Given the description of an element on the screen output the (x, y) to click on. 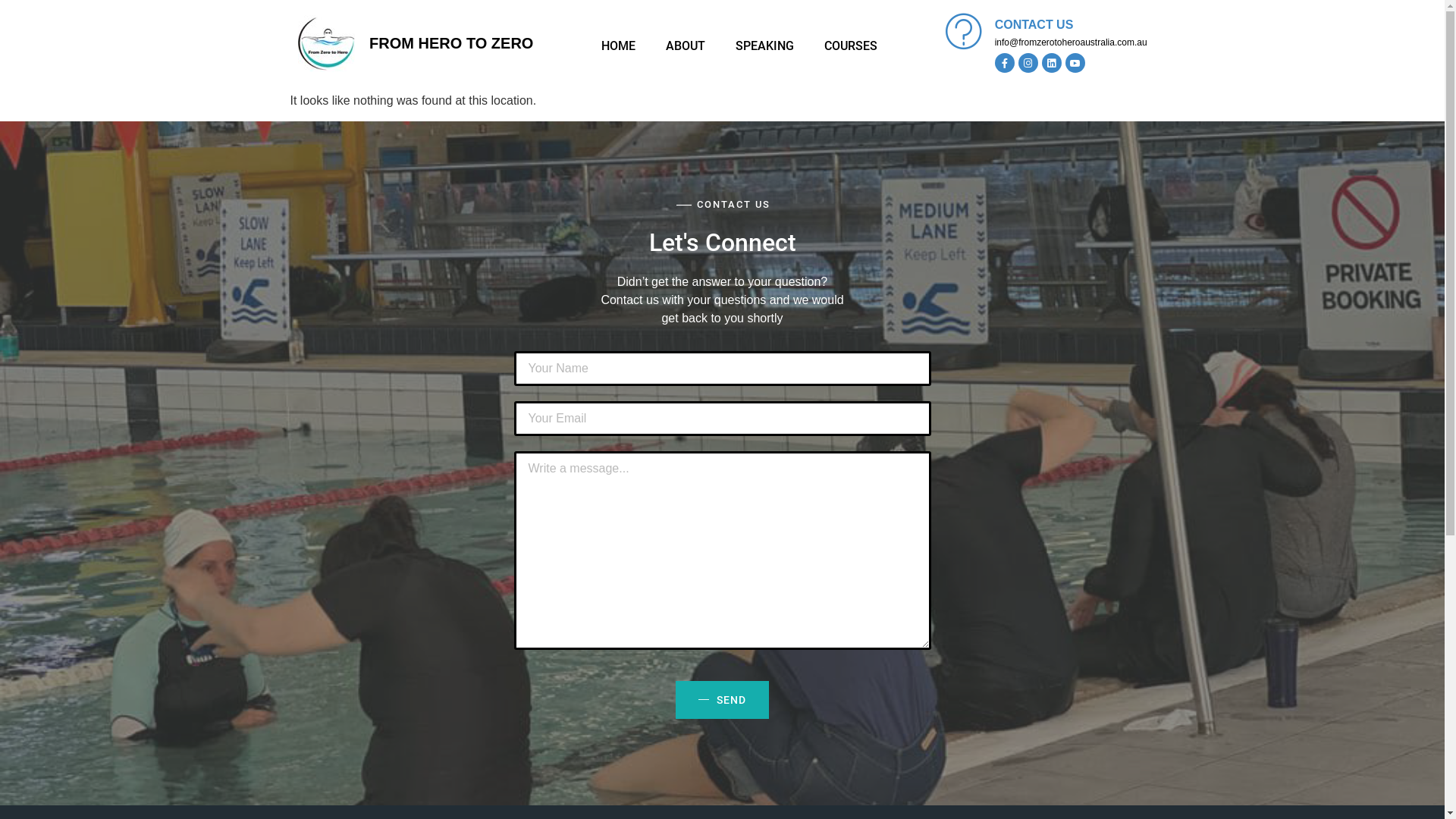
FROM HERO TO ZERO Element type: text (451, 42)
fzth-website-logo.jpg Element type: hover (325, 43)
SPEAKING Element type: text (764, 46)
SEND Element type: text (721, 699)
CONTACT US Element type: text (1033, 24)
info@fromzerotoheroaustralia.com.au Element type: text (1070, 42)
ABOUT Element type: text (685, 46)
COURSES Element type: text (849, 46)
HOME Element type: text (617, 46)
